Given the description of an element on the screen output the (x, y) to click on. 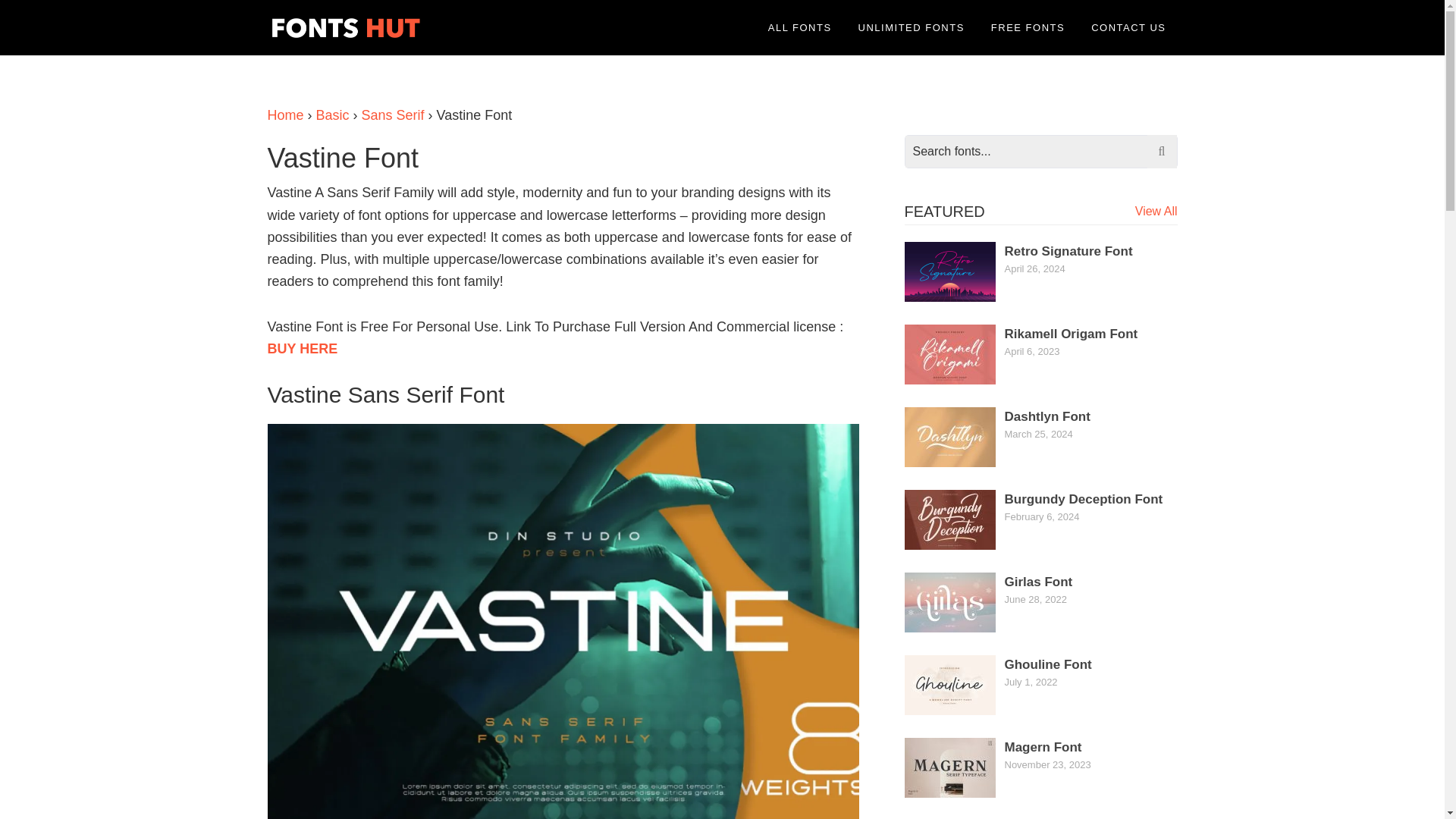
Sans Serif (393, 114)
FREE FONTS (1027, 27)
CONTACT US (1128, 27)
UNLIMITED FONTS (911, 27)
Basic (332, 114)
ALL FONTS (800, 27)
BUY HERE (301, 348)
Home (284, 114)
